Given the description of an element on the screen output the (x, y) to click on. 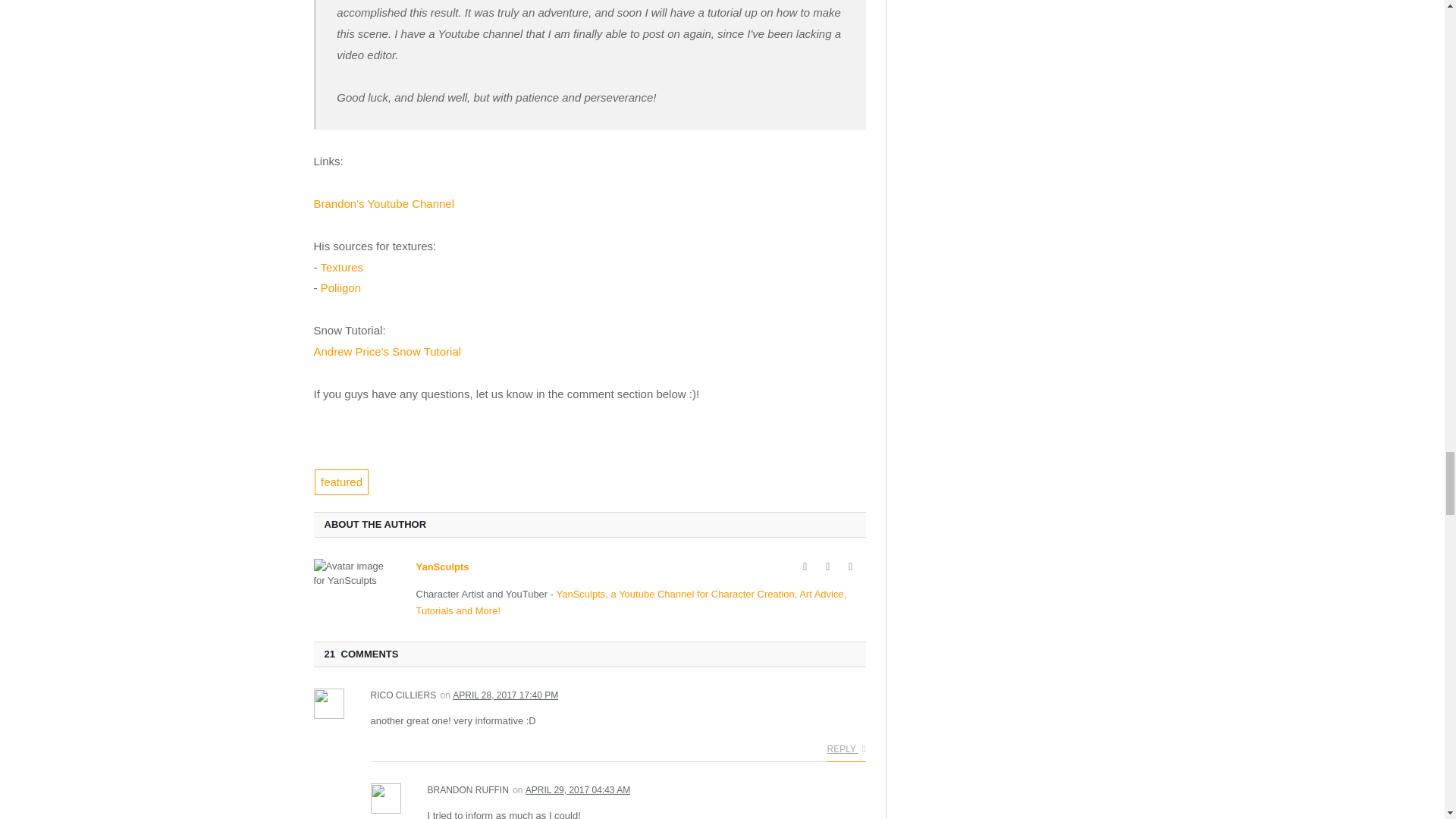
Website (804, 566)
Facebook (828, 566)
April 29, 2017 at 04:43  AM (577, 789)
April 28, 2017 at 17:40  PM (504, 694)
Twitter (851, 566)
